Given the description of an element on the screen output the (x, y) to click on. 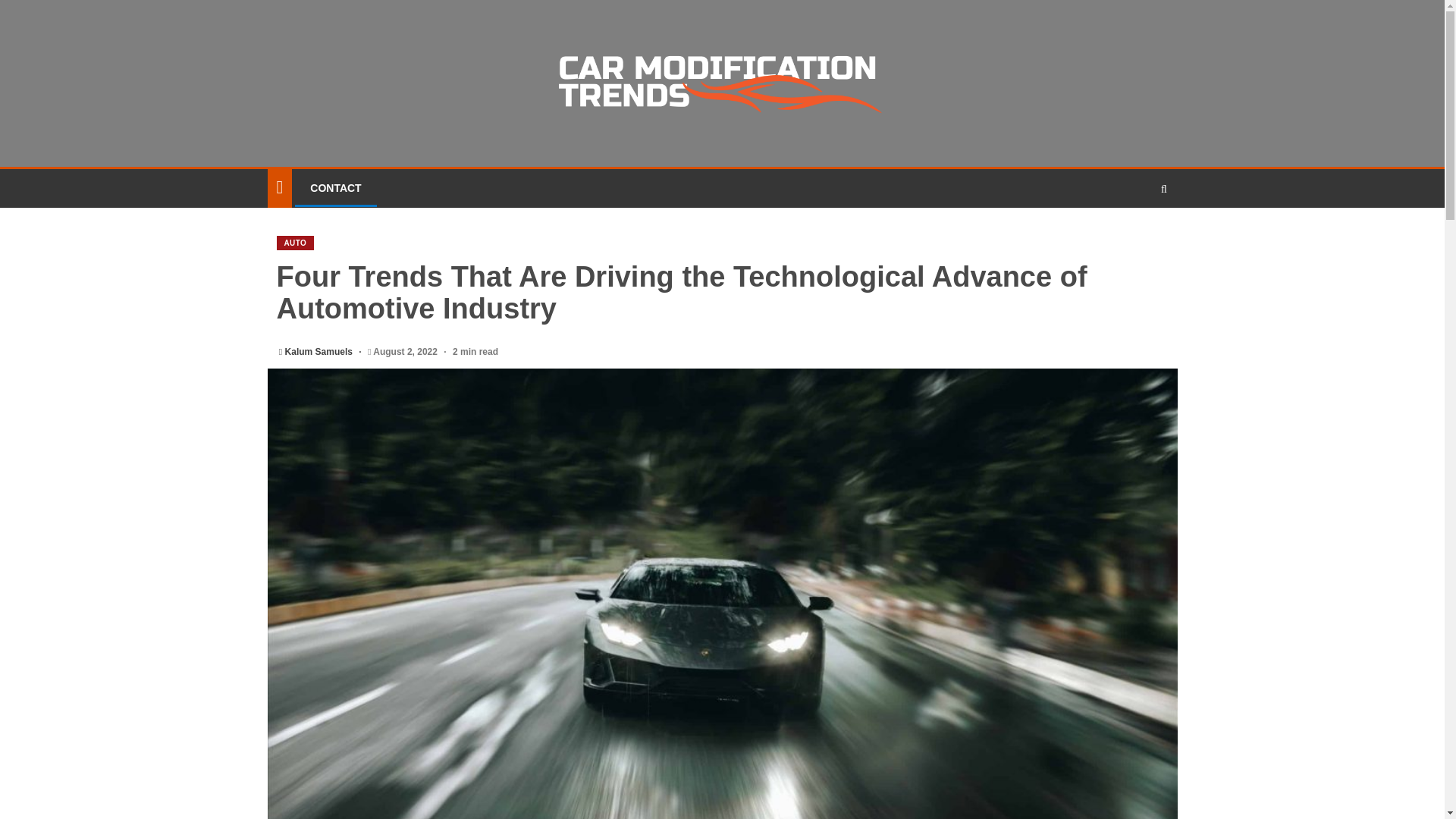
AUTO (295, 242)
Kalum Samuels (320, 351)
Search (1133, 234)
CONTACT (335, 187)
